Given the description of an element on the screen output the (x, y) to click on. 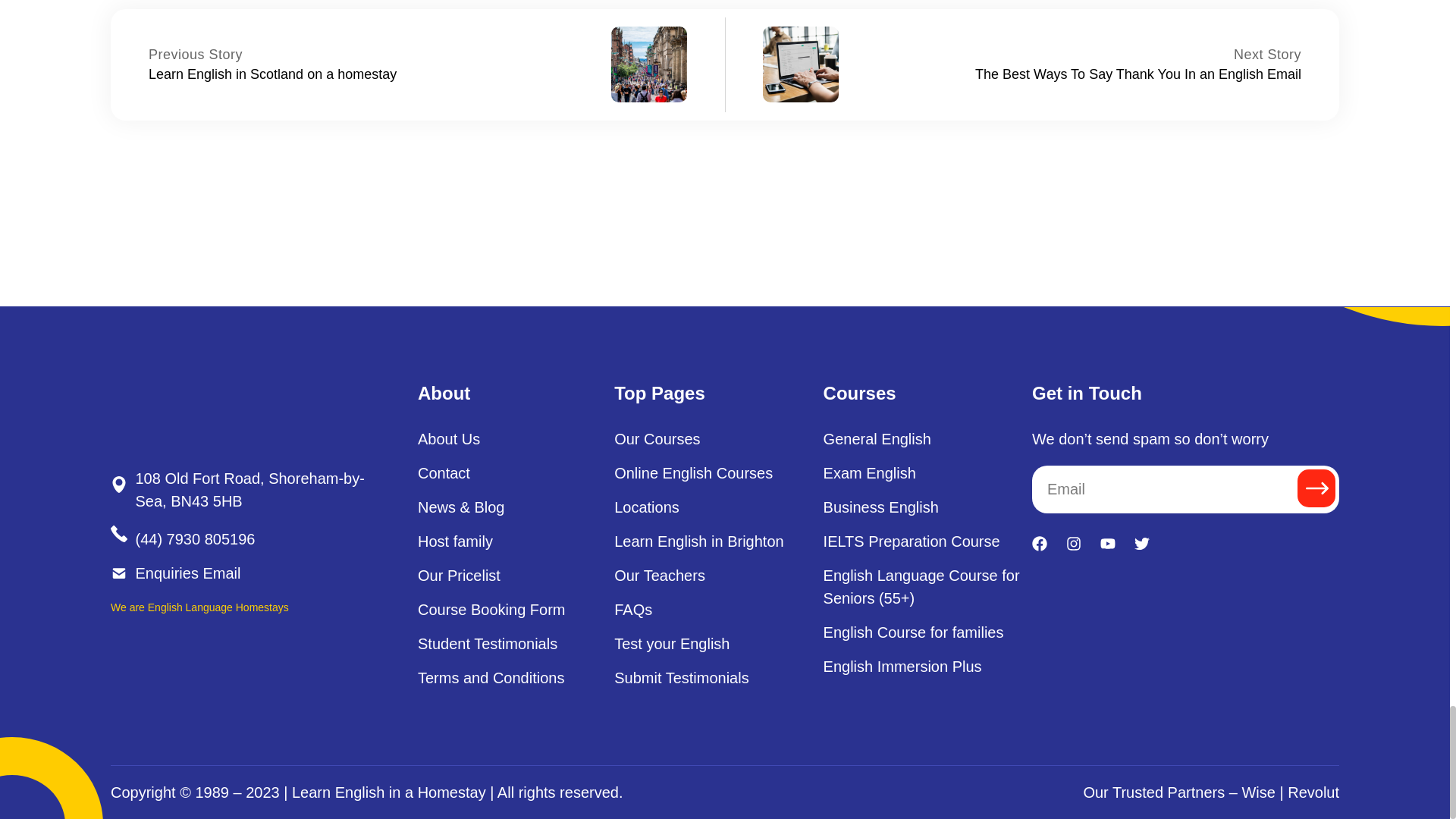
The Best Ways To Say Thank You In an English Email (1138, 73)
Learn English in Scotland on a homestay (272, 73)
The Best Ways To Say Thank You In an English Email (1267, 54)
Learn English in Scotland on a homestay (195, 54)
